Given the description of an element on the screen output the (x, y) to click on. 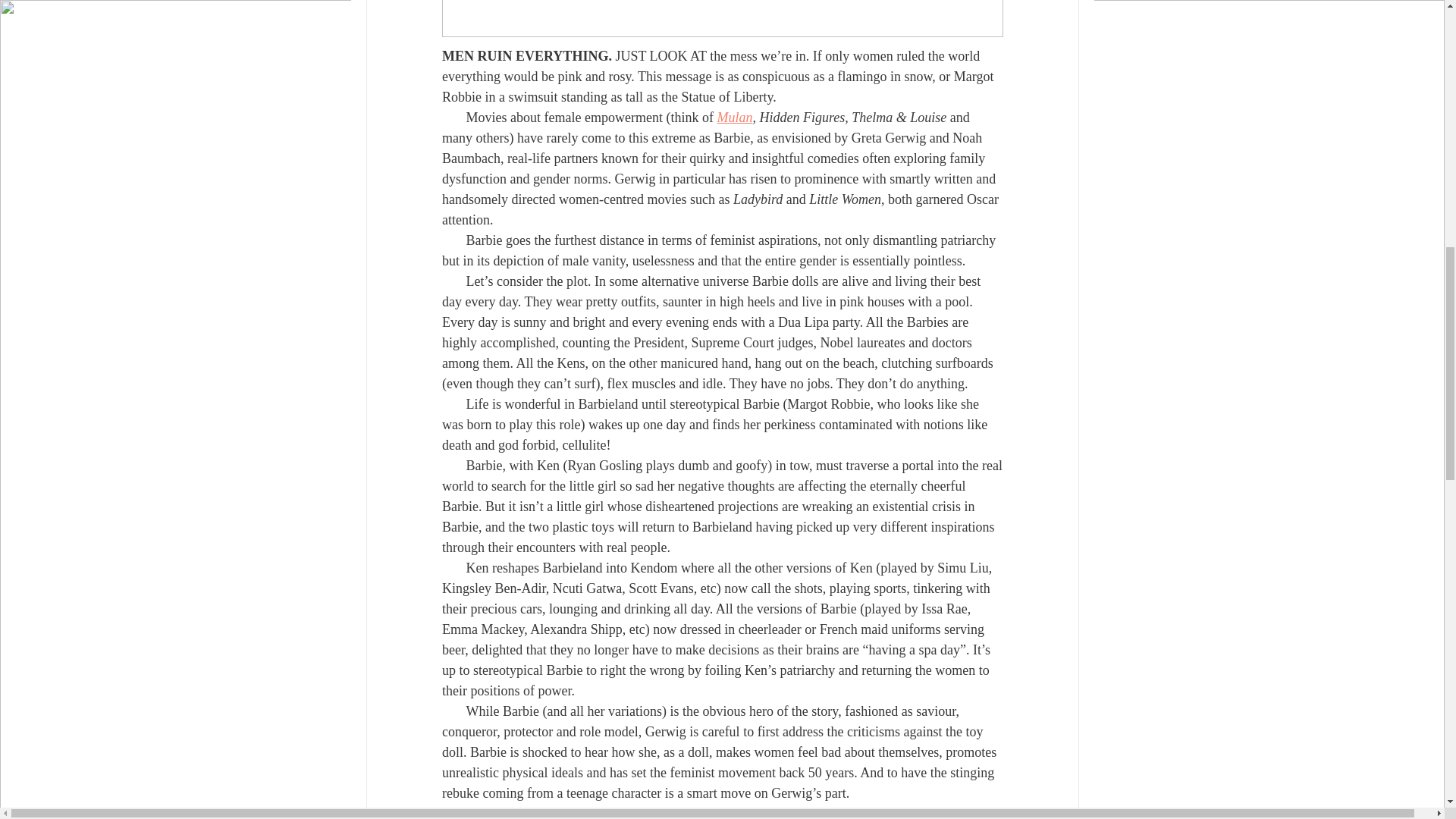
Mulan (734, 117)
